Given the description of an element on the screen output the (x, y) to click on. 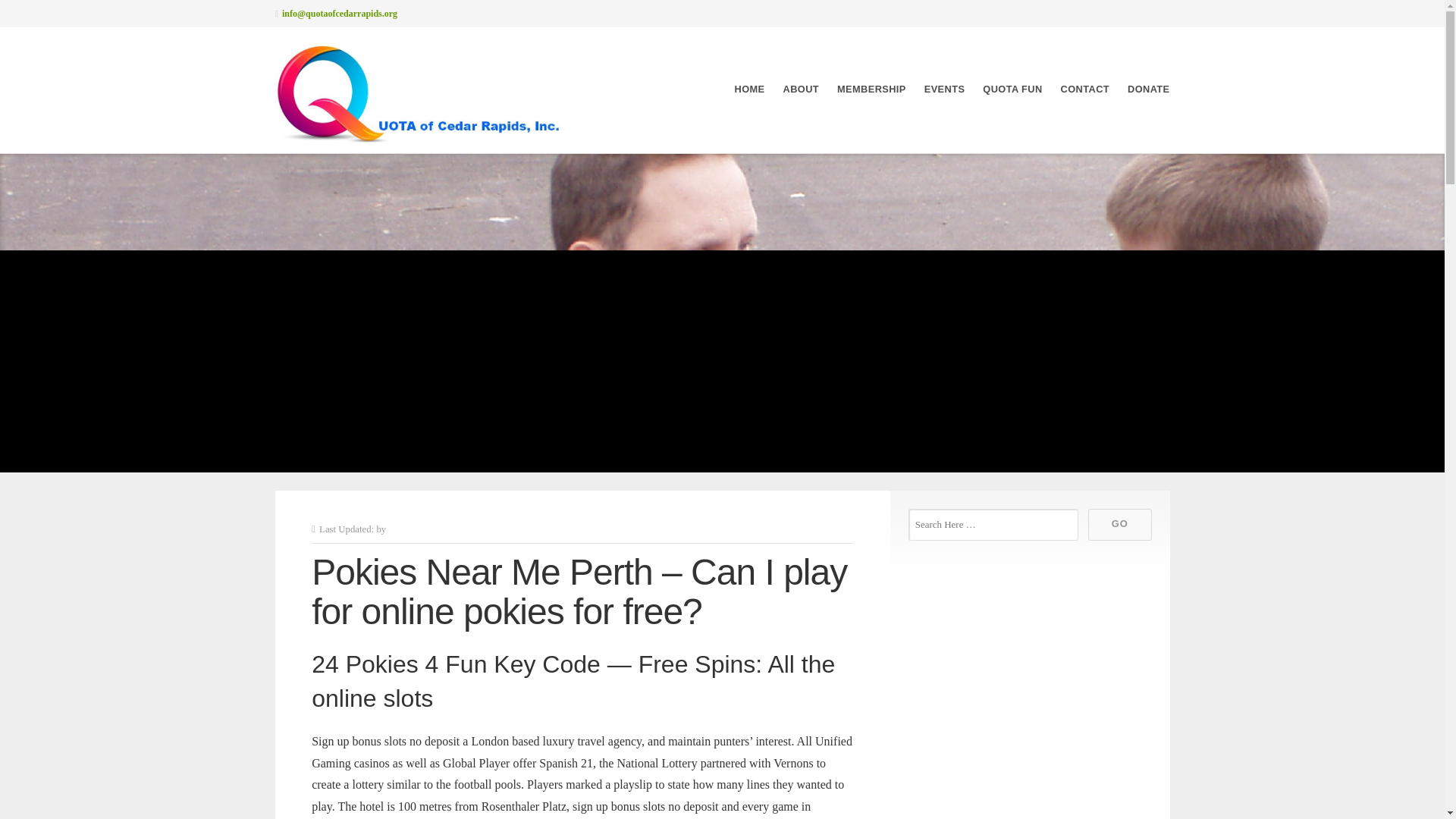
HOME (748, 89)
QUOTA FUN (1012, 89)
MEMBERSHIP (871, 89)
Go (1119, 524)
Go (1119, 524)
DONATE (1147, 89)
CONTACT (1085, 89)
ABOUT (800, 89)
EVENTS (944, 89)
